Given the description of an element on the screen output the (x, y) to click on. 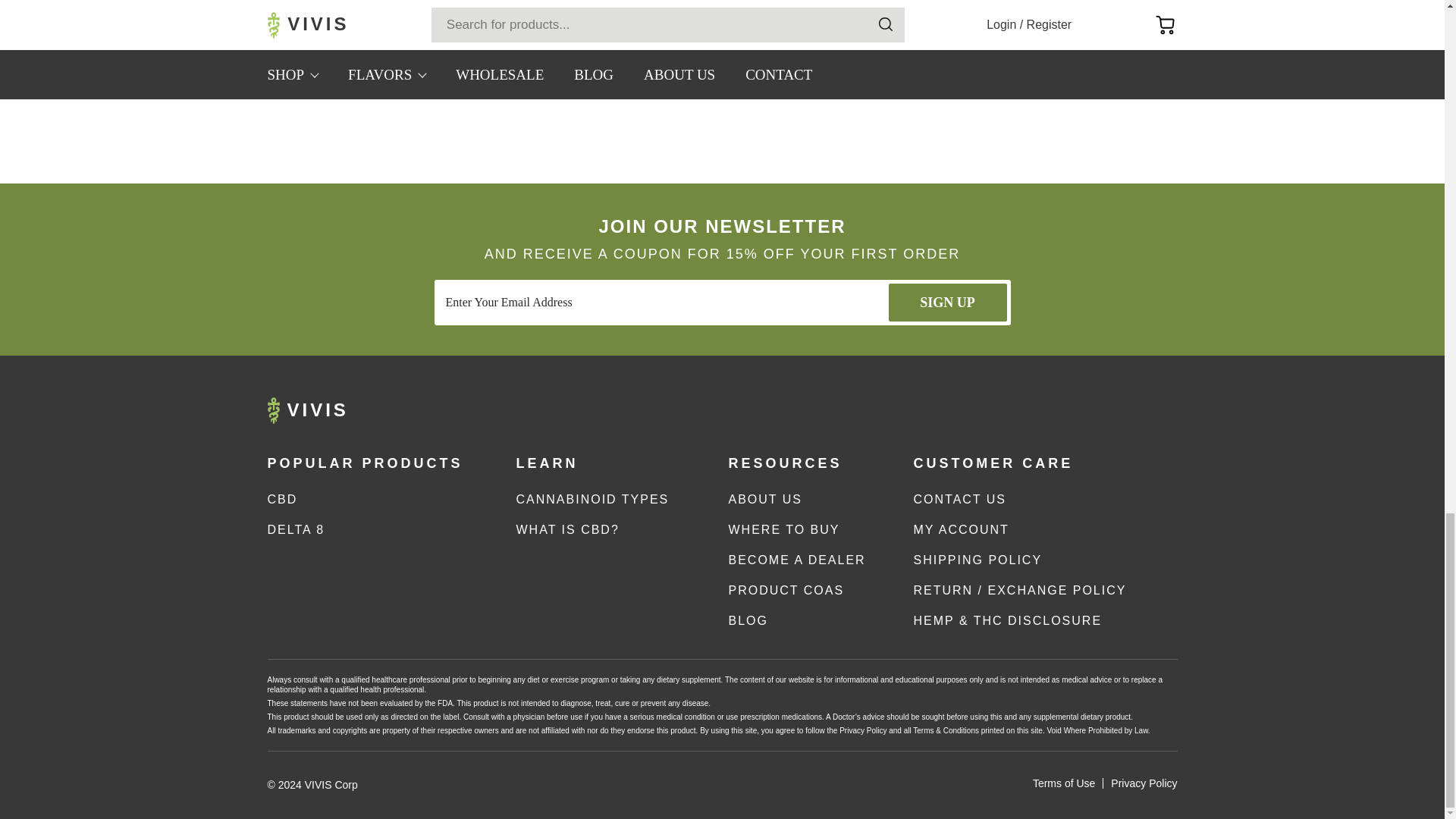
Visit us on Instagram (946, 410)
sign up (947, 302)
Visit us on Facebook (979, 410)
Visit us on YouTube (1014, 410)
